Given the description of an element on the screen output the (x, y) to click on. 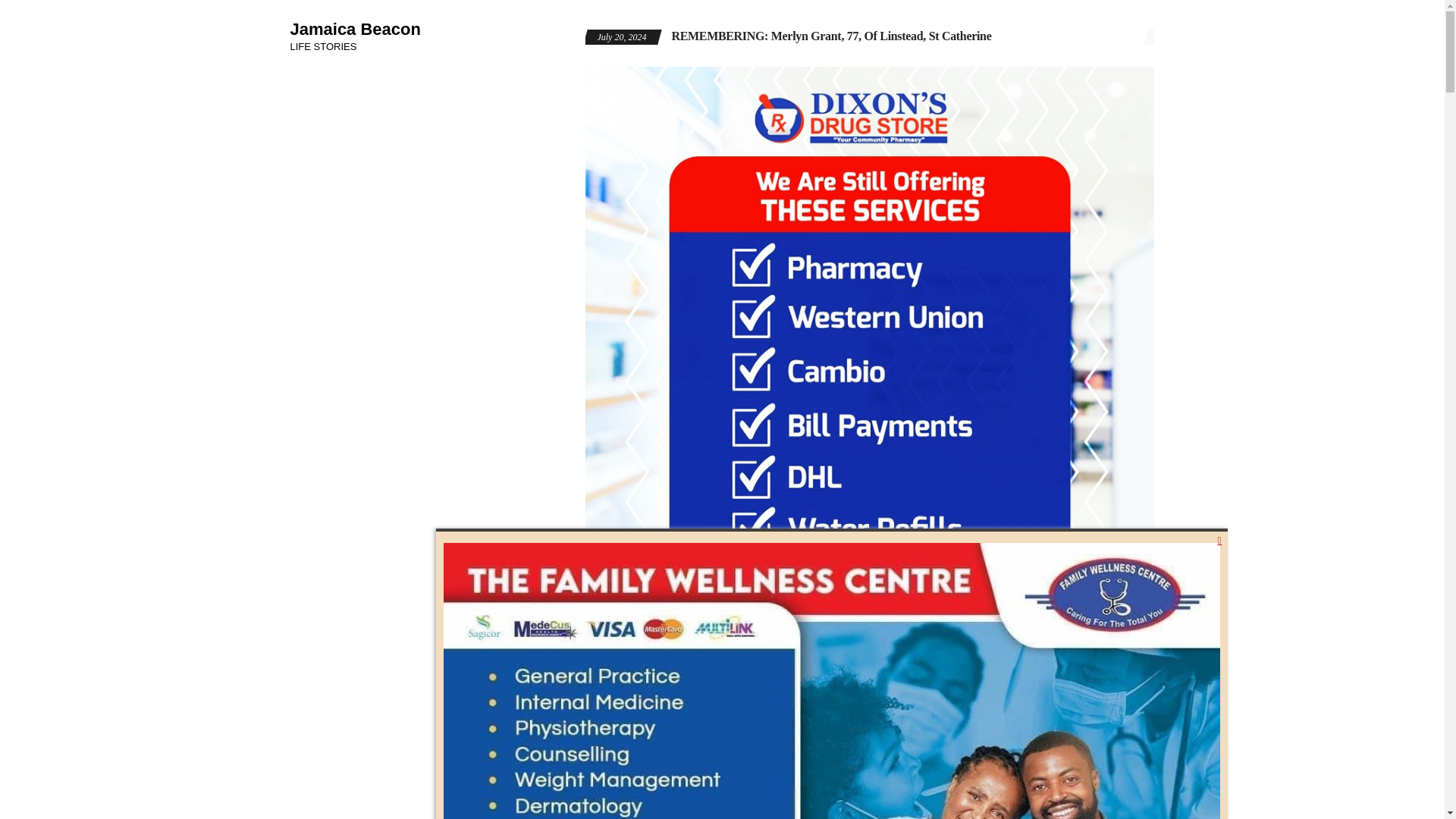
REMEMBERING: Merlyn Grant, 77, Of Linstead, St Catherine (831, 35)
Jamaica Beacon (354, 28)
